Given the description of an element on the screen output the (x, y) to click on. 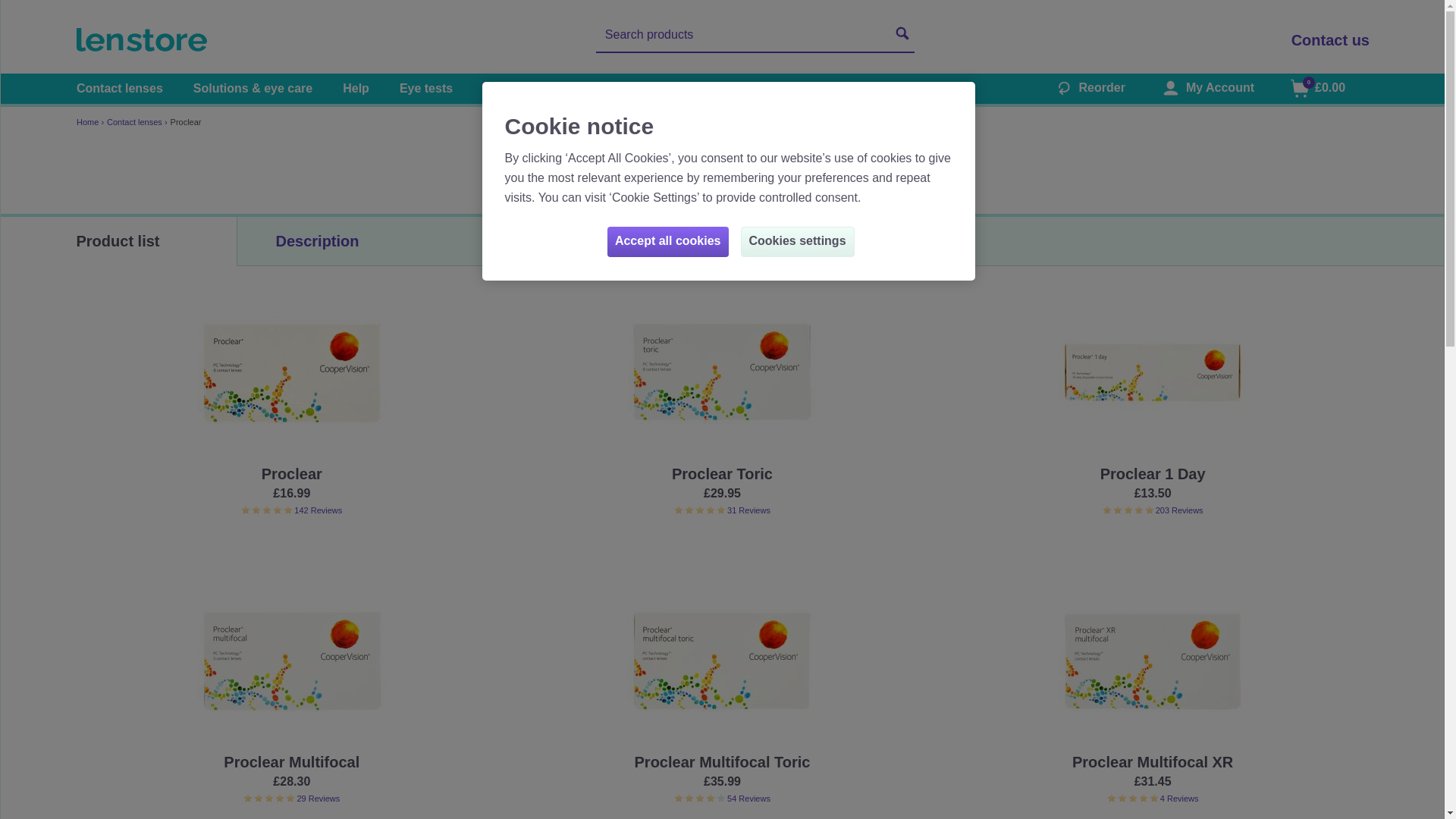
Reorder (1086, 88)
My Account (1204, 88)
Eye tests (425, 88)
Contact us (1330, 39)
Contact lenses (120, 88)
Help (355, 88)
